Given the description of an element on the screen output the (x, y) to click on. 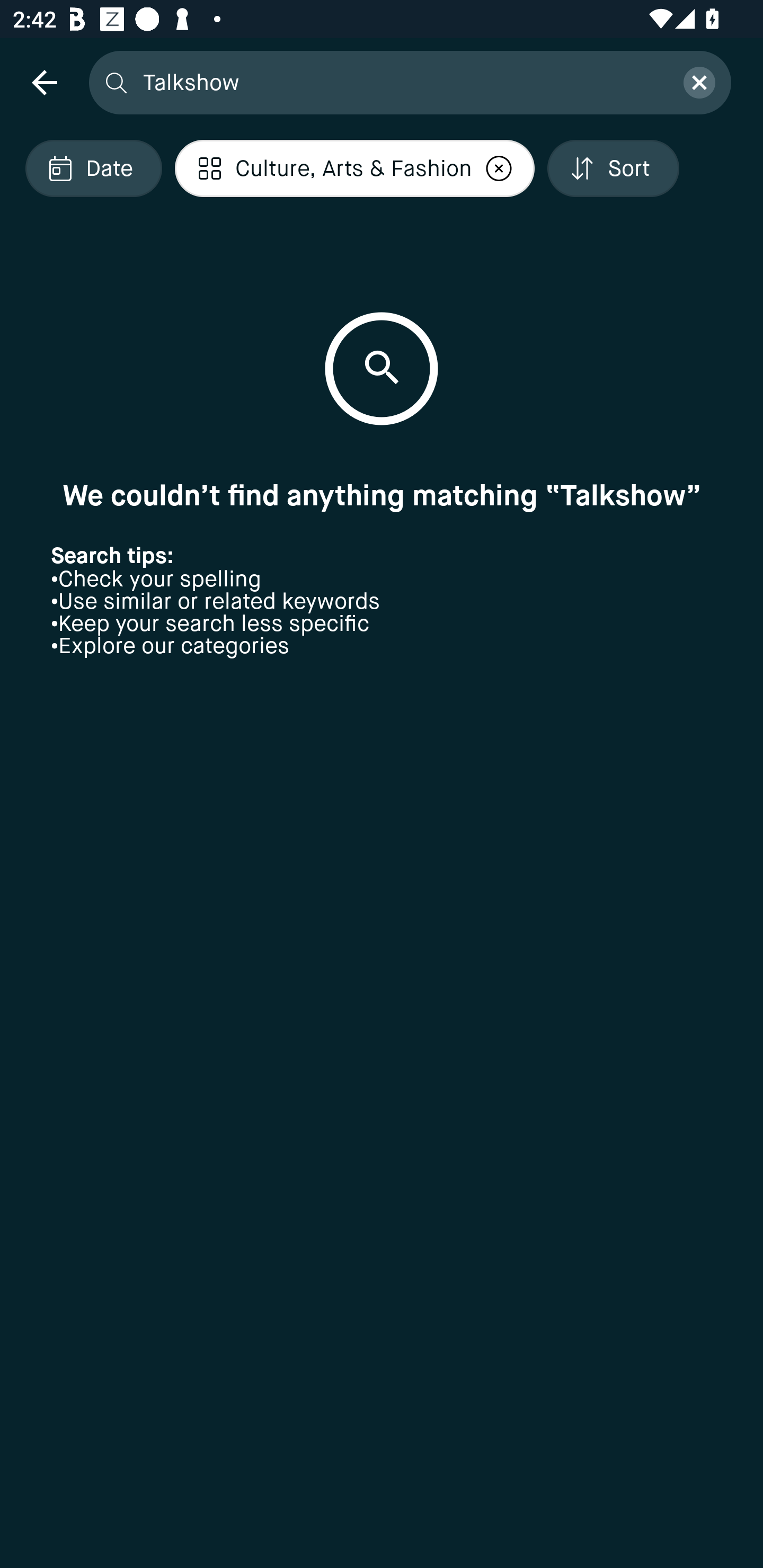
navigation icon (44, 81)
Talkshow (402, 81)
Localized description Date (93, 168)
Localized description (498, 168)
Localized description Sort (613, 168)
We couldn’t find anything matching “Talkshow” (381, 495)
